Given the description of an element on the screen output the (x, y) to click on. 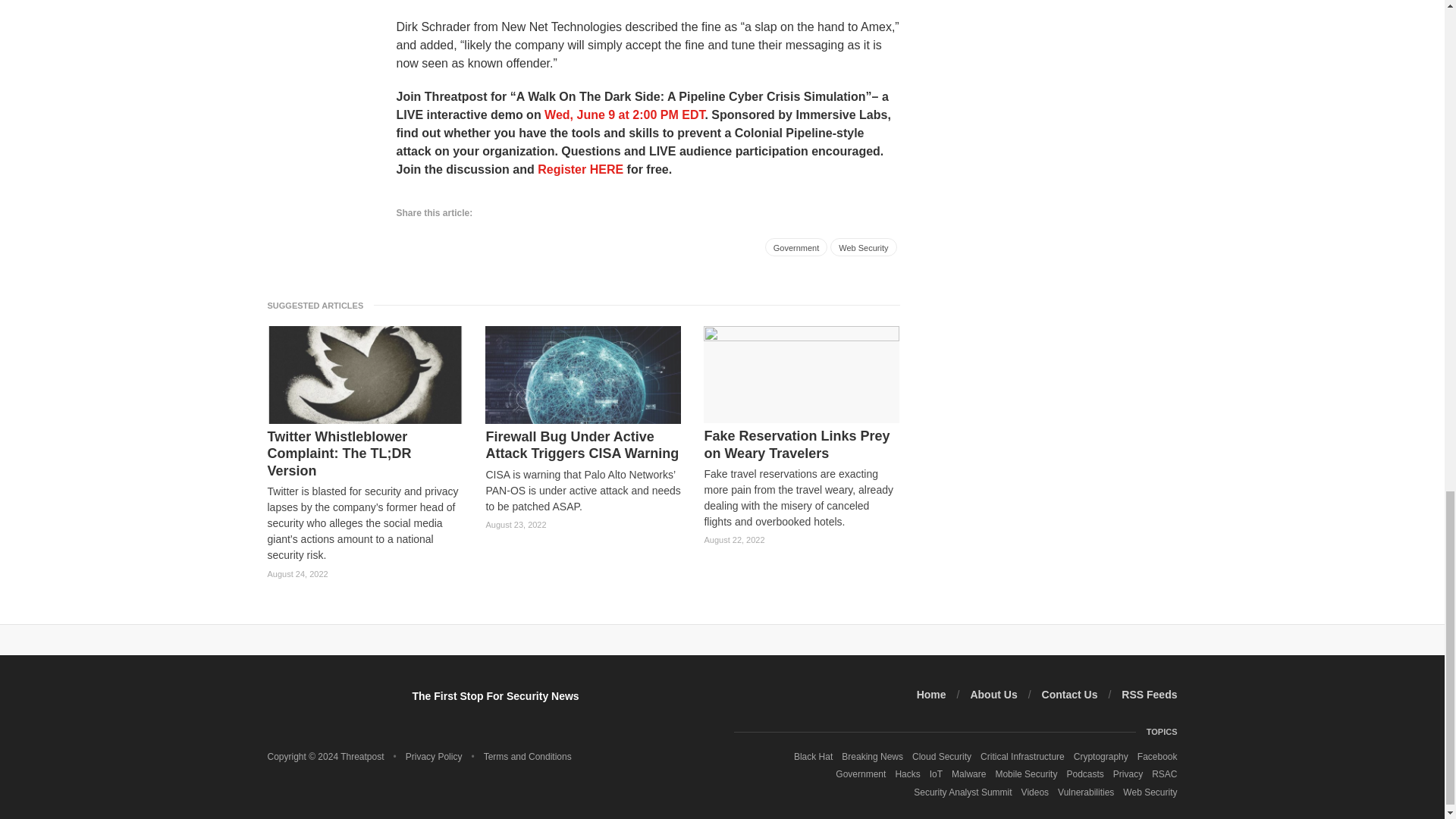
Government (796, 247)
Wed, June 9 at 2:00 PM EDT (624, 114)
SUGGESTED ARTICLES (319, 305)
Web Security (862, 247)
Fake Reservation Links Prey on Weary Travelers (801, 444)
Register HERE (580, 169)
Firewall Bug Under Active Attack Triggers CISA Warning (582, 445)
Twitter Whistleblower Complaint: The TL;DR Version (364, 453)
